Given the description of an element on the screen output the (x, y) to click on. 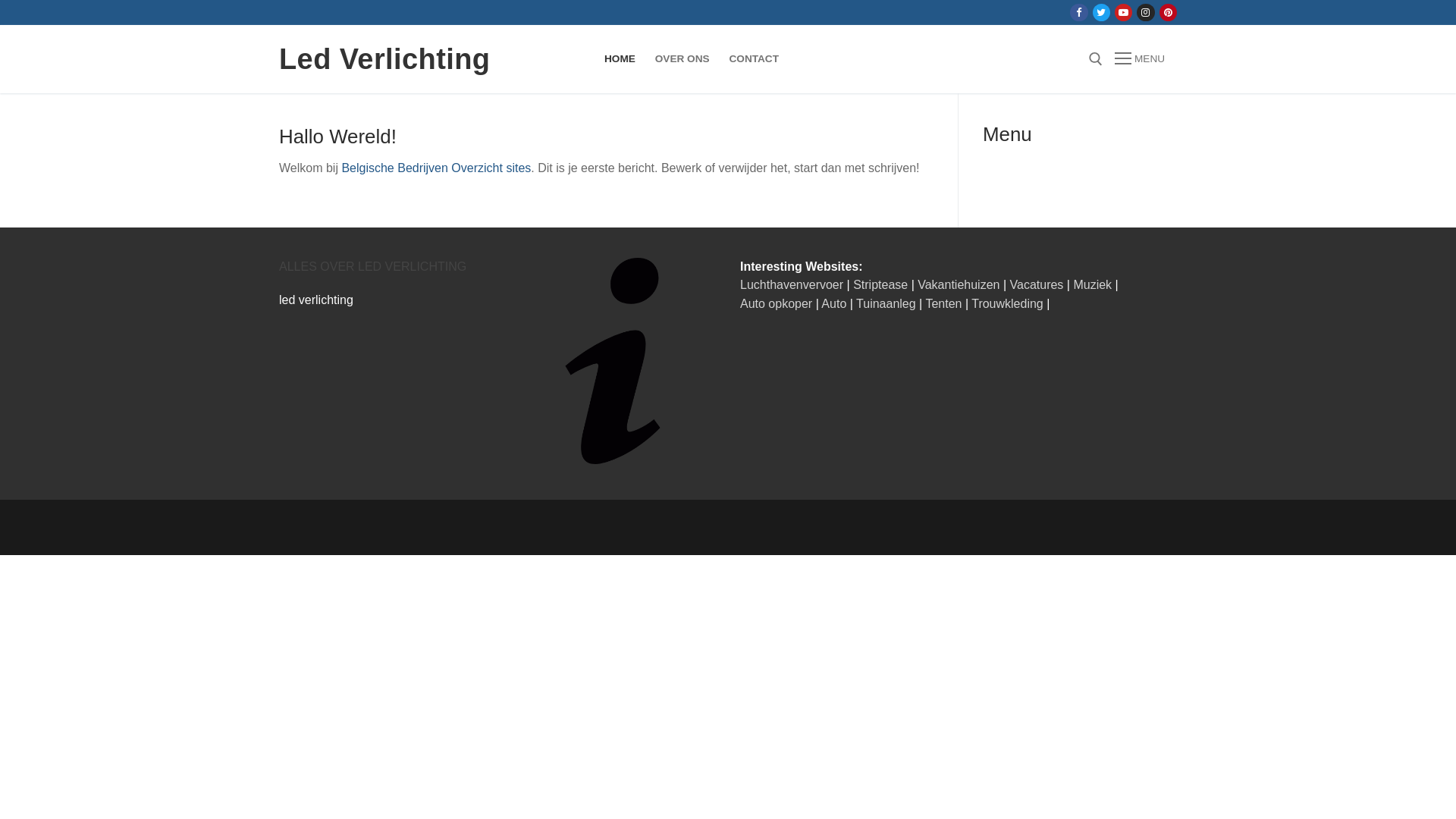
Belgische Bedrijven Overzicht sites Element type: text (435, 167)
Tuinaanleg Element type: text (886, 303)
CONTACT Element type: text (753, 58)
Led Verlichting Element type: text (384, 58)
Muziek Element type: text (1092, 284)
Vakantiehuizen Element type: text (958, 284)
Auto Element type: text (833, 303)
Vacatures Element type: text (1036, 284)
Youtube Element type: hover (1123, 12)
Trouwkleding Element type: text (1007, 303)
Pinterest Element type: hover (1168, 12)
Striptease Element type: text (880, 284)
Instagram Element type: hover (1145, 12)
Doorgaan naar inhoud Element type: text (0, 0)
Auto opkoper Element type: text (776, 303)
Facebook Element type: hover (1078, 12)
Twitter Element type: hover (1101, 12)
OVER ONS Element type: text (682, 58)
Tenten Element type: text (943, 303)
HOME Element type: text (619, 58)
Luchthavenvervoer Element type: text (791, 284)
MENU Element type: text (1139, 59)
